Given the description of an element on the screen output the (x, y) to click on. 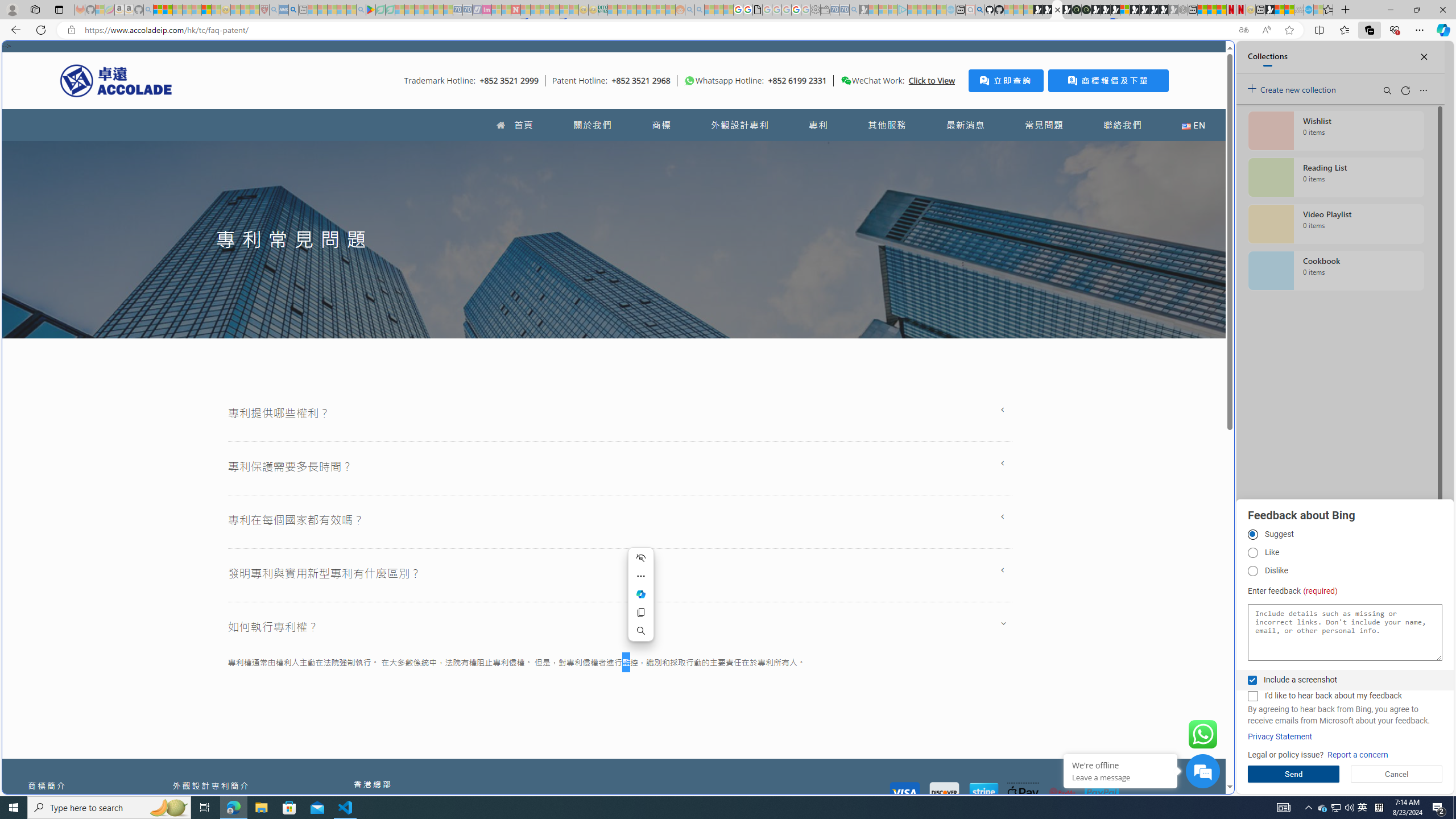
14 Common Myths Debunked By Scientific Facts - Sleeping (534, 9)
Accolade IP HK Logo (116, 80)
New tab - Sleeping (303, 9)
Trusted Community Engagement and Contributions | Guidelines (525, 9)
Home | Sky Blue Bikes - Sky Blue Bikes - Sleeping (950, 9)
Microsoft account | Privacy - Sleeping (892, 9)
New Report Confirms 2023 Was Record Hot | Watch - Sleeping (196, 9)
Ask Copilot (640, 594)
Expert Portfolios - Sleeping (640, 9)
